Given the description of an element on the screen output the (x, y) to click on. 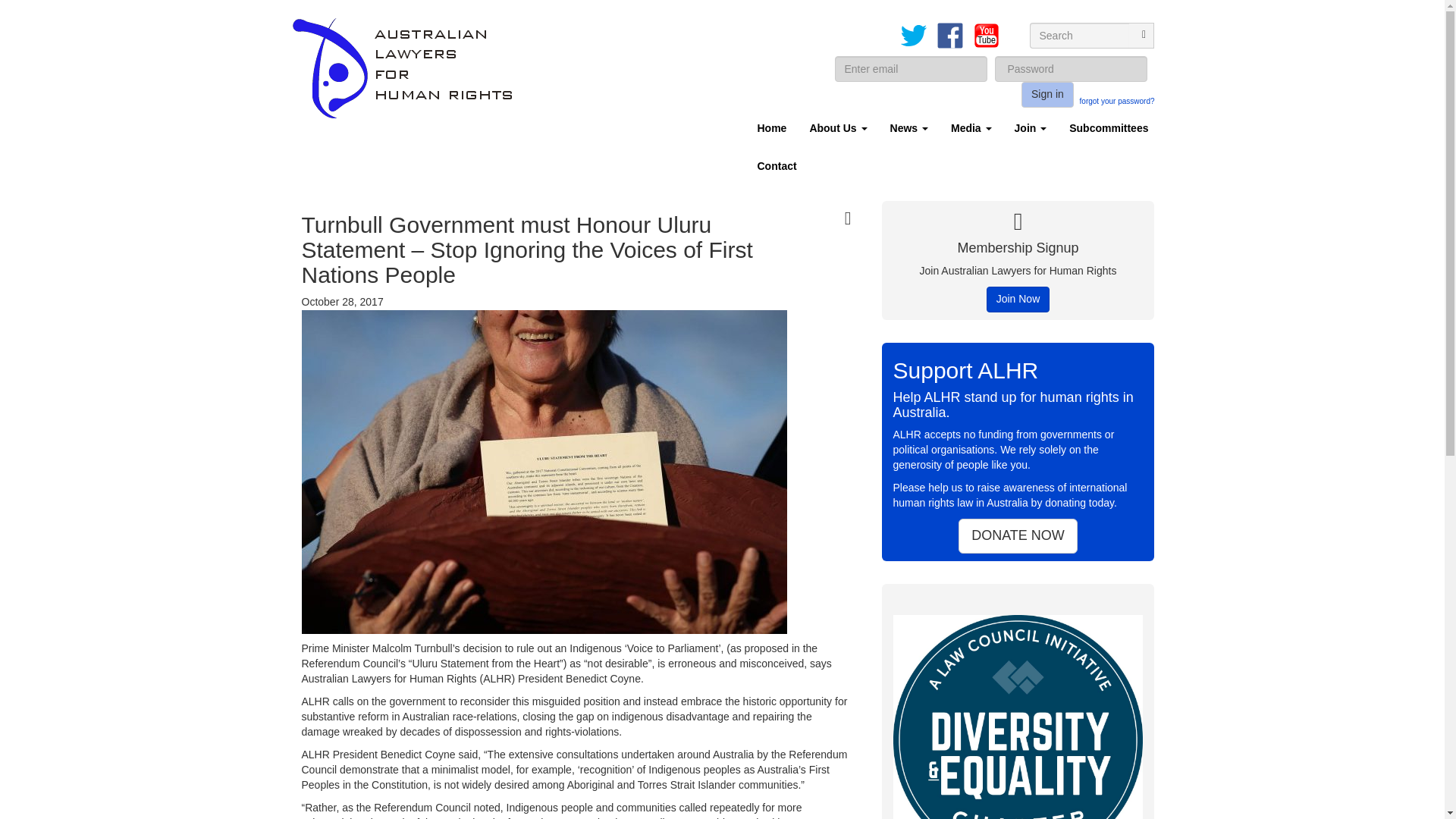
Contact (776, 166)
Join (1030, 127)
Media (971, 127)
News (909, 127)
Join (1030, 127)
About Us (837, 127)
DONATE NOW (1017, 535)
Join Now (1018, 299)
Media (971, 127)
Subcommittees (1108, 127)
